Given the description of an element on the screen output the (x, y) to click on. 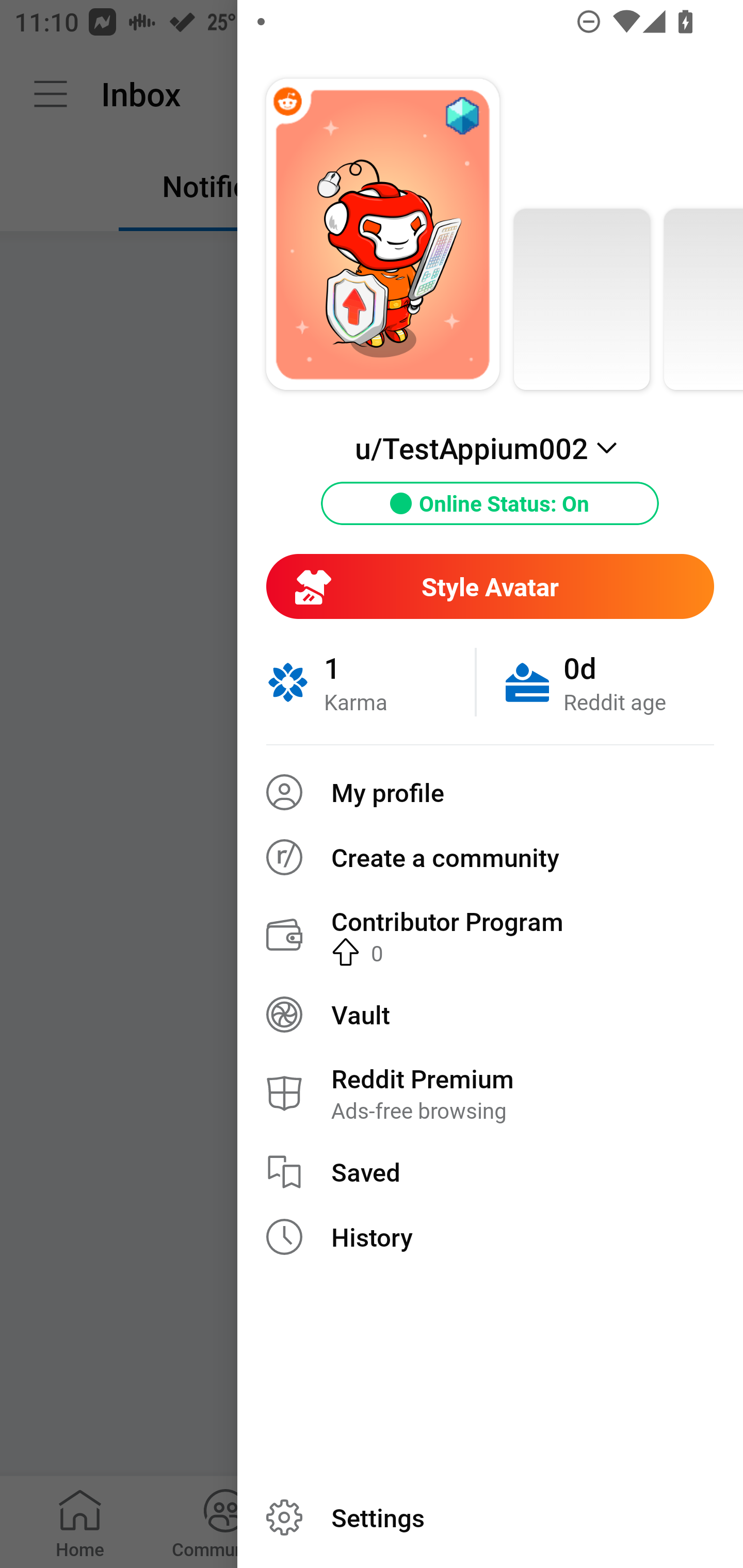
u/TestAppium002 (489, 447)
Online Status: On (489, 503)
Style Avatar (489, 586)
1 Karma 1 Karma (369, 681)
My profile (490, 792)
Create a community (490, 856)
Contributor Program Contributor Program 0 (490, 935)
Vault (490, 1014)
Saved (490, 1171)
History (490, 1237)
Settings (490, 1517)
